Given the description of an element on the screen output the (x, y) to click on. 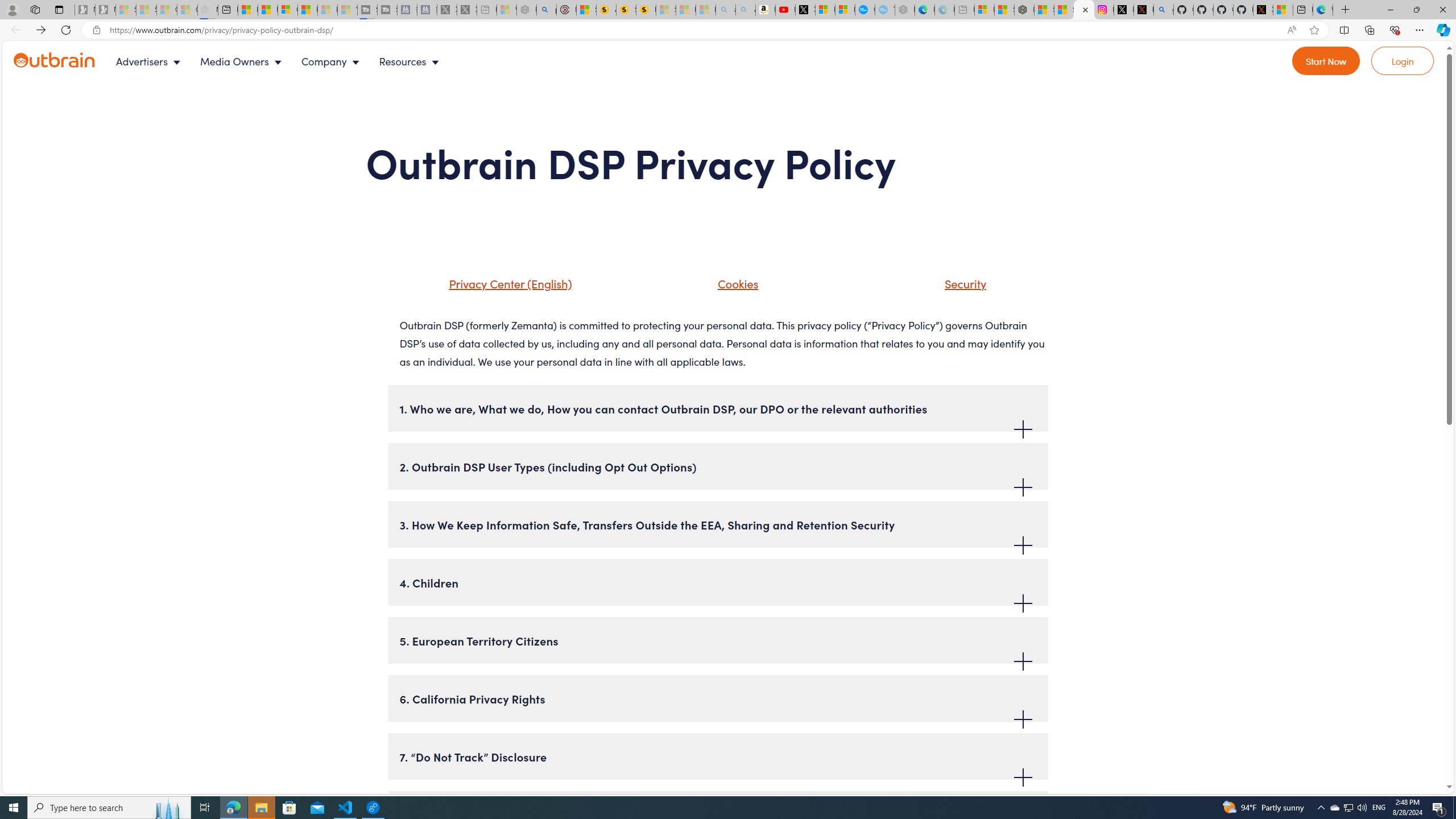
2. Outbrain DSP User Types (including Opt Out Options) (717, 466)
4. Children (717, 582)
github - Search (1162, 9)
Company (333, 61)
Opinion: Op-Ed and Commentary - USA TODAY (864, 9)
